Given the description of an element on the screen output the (x, y) to click on. 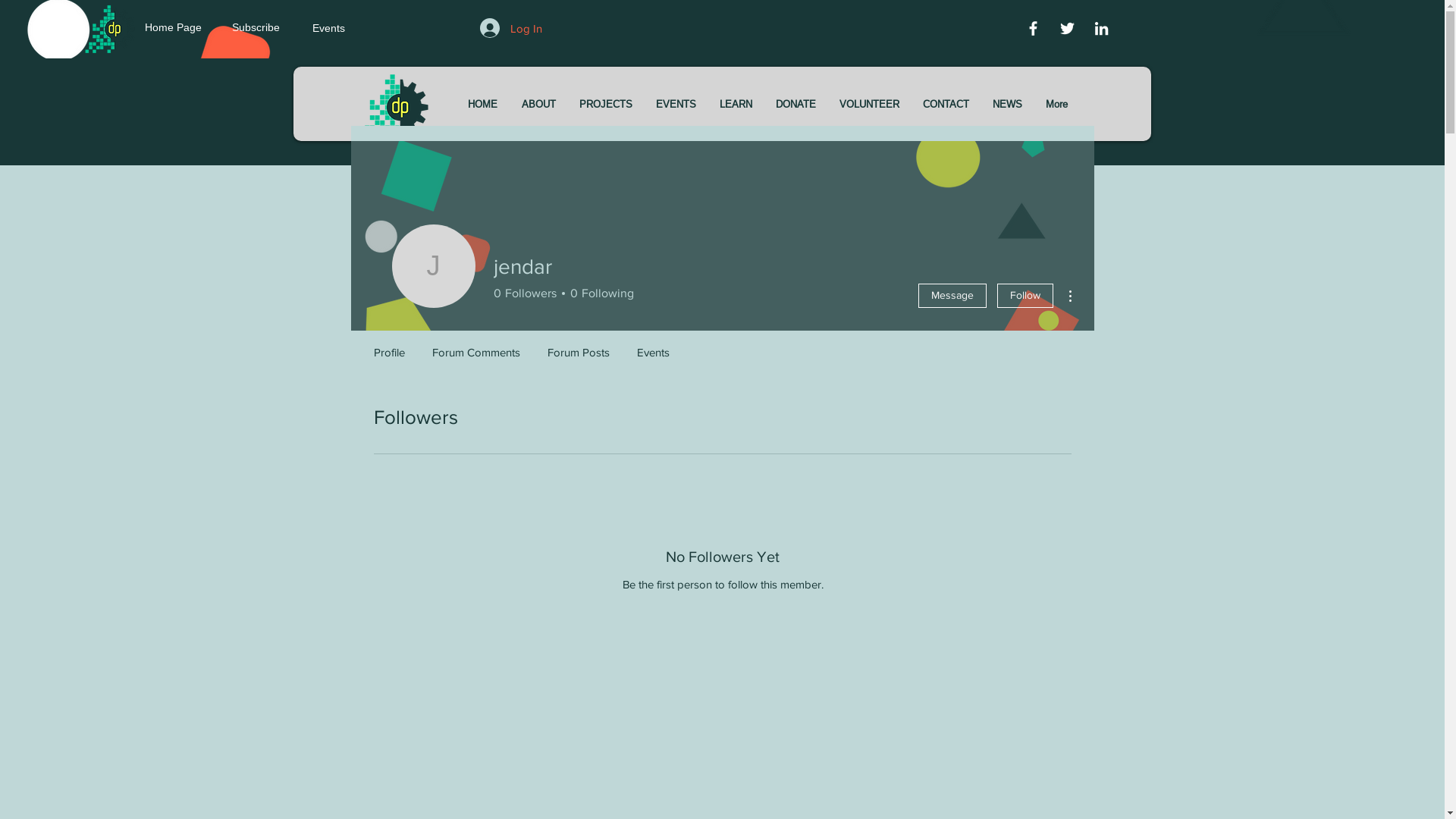
HOME Element type: text (481, 103)
0
Followers Element type: text (523, 293)
Message Element type: text (951, 295)
EVENTS Element type: text (676, 103)
LEARN Element type: text (736, 103)
Log In Element type: text (510, 27)
VOLUNTEER Element type: text (869, 103)
NEWS Element type: text (1007, 103)
Forum Comments Element type: text (475, 345)
Forum Posts Element type: text (578, 345)
DONATE Element type: text (796, 103)
Subscribe Element type: text (258, 27)
Home Page Element type: text (184, 27)
0
Following Element type: text (598, 293)
ABOUT Element type: text (538, 103)
PROJECTS Element type: text (605, 103)
CONTACT Element type: text (946, 103)
Profile Element type: text (388, 345)
Events Element type: text (351, 28)
Events Element type: text (653, 345)
Follow Element type: text (1024, 295)
